Given the description of an element on the screen output the (x, y) to click on. 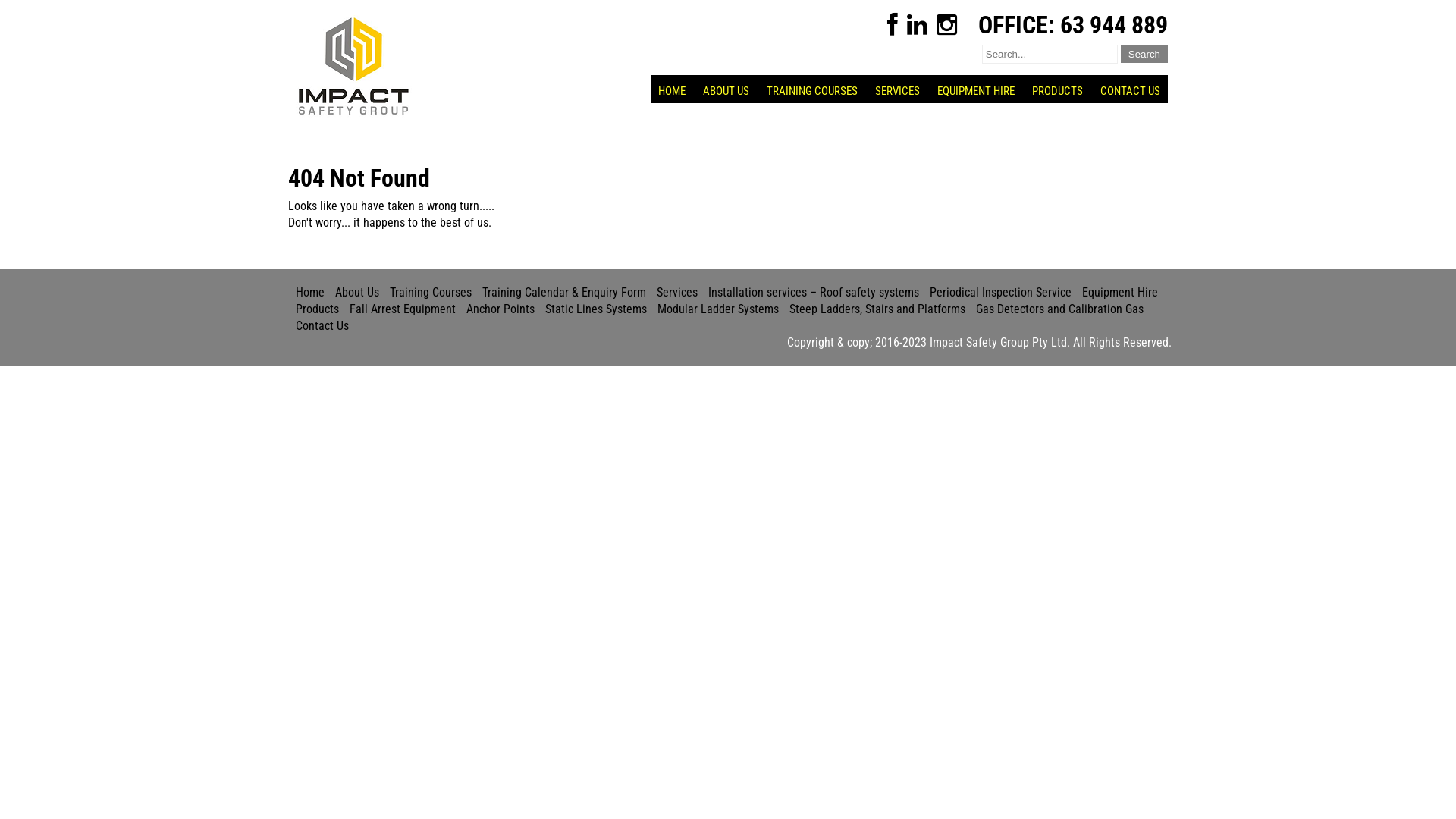
Equipment Hire Element type: text (1119, 292)
Home Element type: text (309, 292)
SERVICES Element type: text (897, 90)
EQUIPMENT HIRE Element type: text (975, 90)
Periodical Inspection Service Element type: text (1000, 292)
facebook Element type: hover (892, 24)
Fall Arrest Equipment Element type: text (402, 308)
Products Element type: text (316, 308)
Static Lines Systems Element type: text (595, 308)
About Us Element type: text (357, 292)
PRODUCTS Element type: text (1057, 90)
Search Element type: text (1143, 53)
TRAINING COURSES Element type: text (812, 90)
Steep Ladders, Stairs and Platforms Element type: text (877, 308)
HOME Element type: text (671, 90)
Anchor Points Element type: text (500, 308)
Modular Ladder Systems Element type: text (717, 308)
ABOUT US Element type: text (725, 90)
CONTACT US Element type: text (1129, 90)
Training Calendar & Enquiry Form Element type: text (564, 292)
Gas Detectors and Calibration Gas Element type: text (1059, 308)
linkedin Element type: hover (916, 24)
Training Courses Element type: text (430, 292)
Services Element type: text (676, 292)
instagram Element type: hover (946, 24)
Contact Us Element type: text (321, 325)
